Given the description of an element on the screen output the (x, y) to click on. 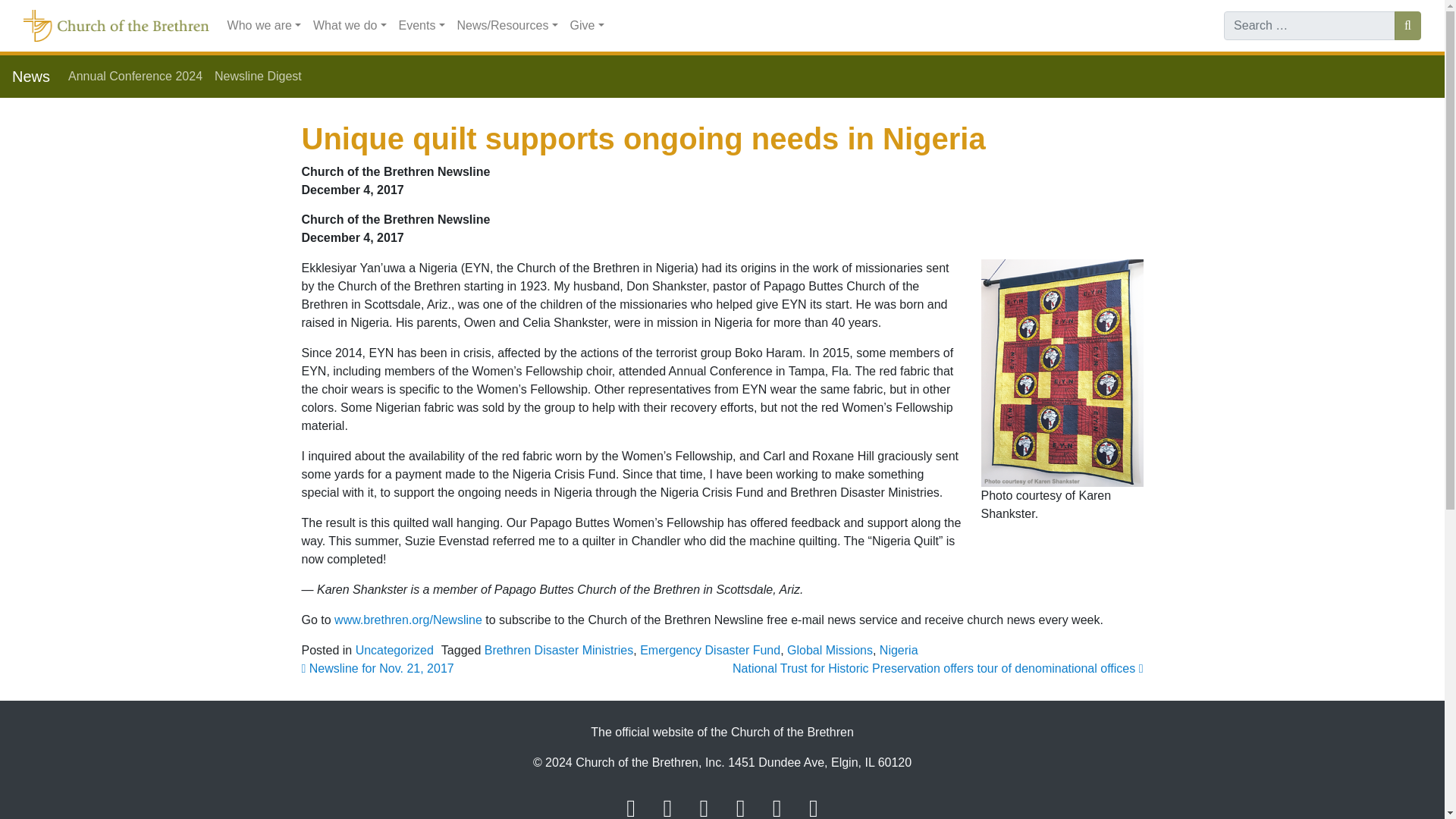
What we do (350, 25)
Who we are (264, 25)
Events (422, 25)
Who we are (264, 25)
What we do (350, 25)
